Given the description of an element on the screen output the (x, y) to click on. 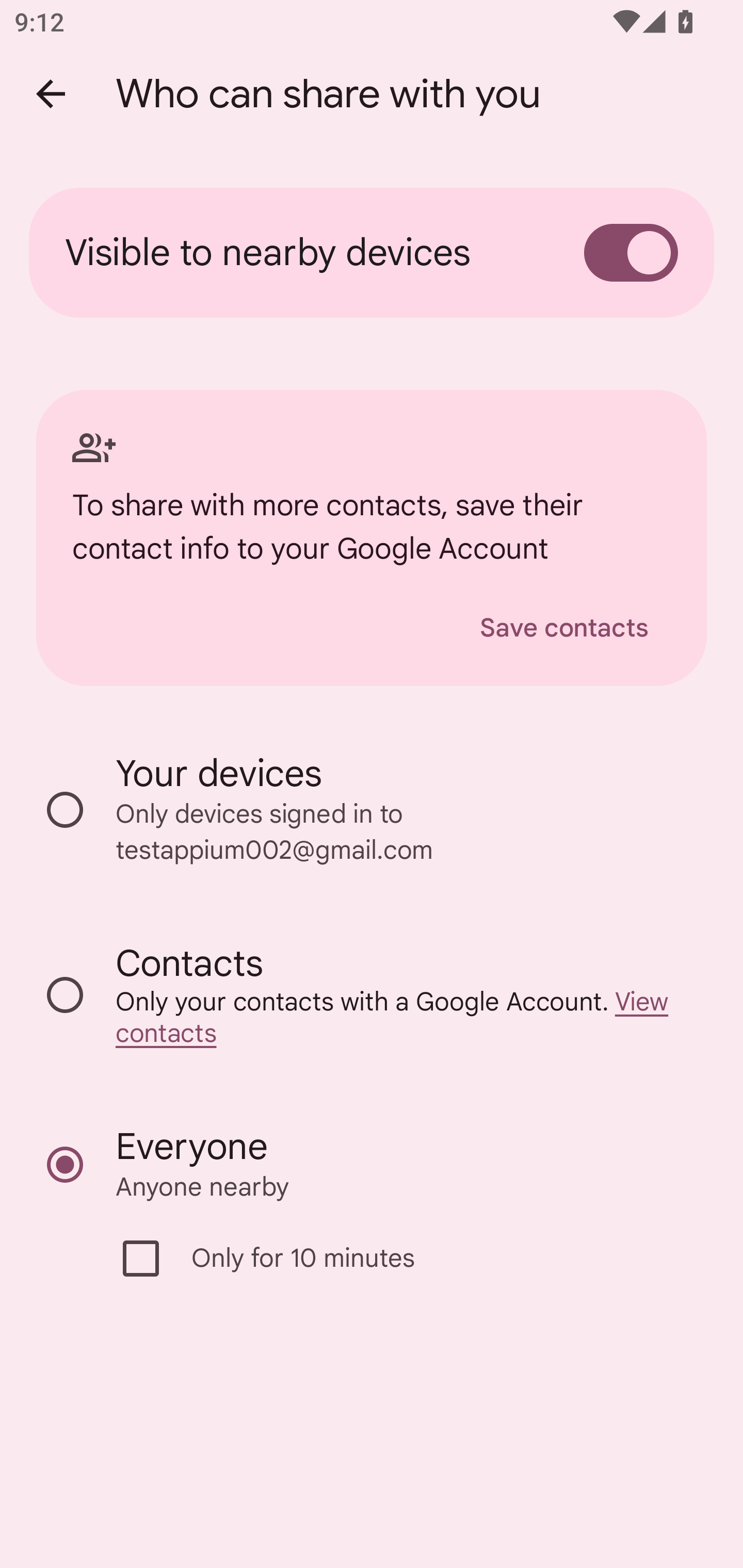
Back (50, 93)
Visible to nearby devices (371, 253)
Save contacts (564, 627)
Only for 10 minutes (382, 1258)
